Given the description of an element on the screen output the (x, y) to click on. 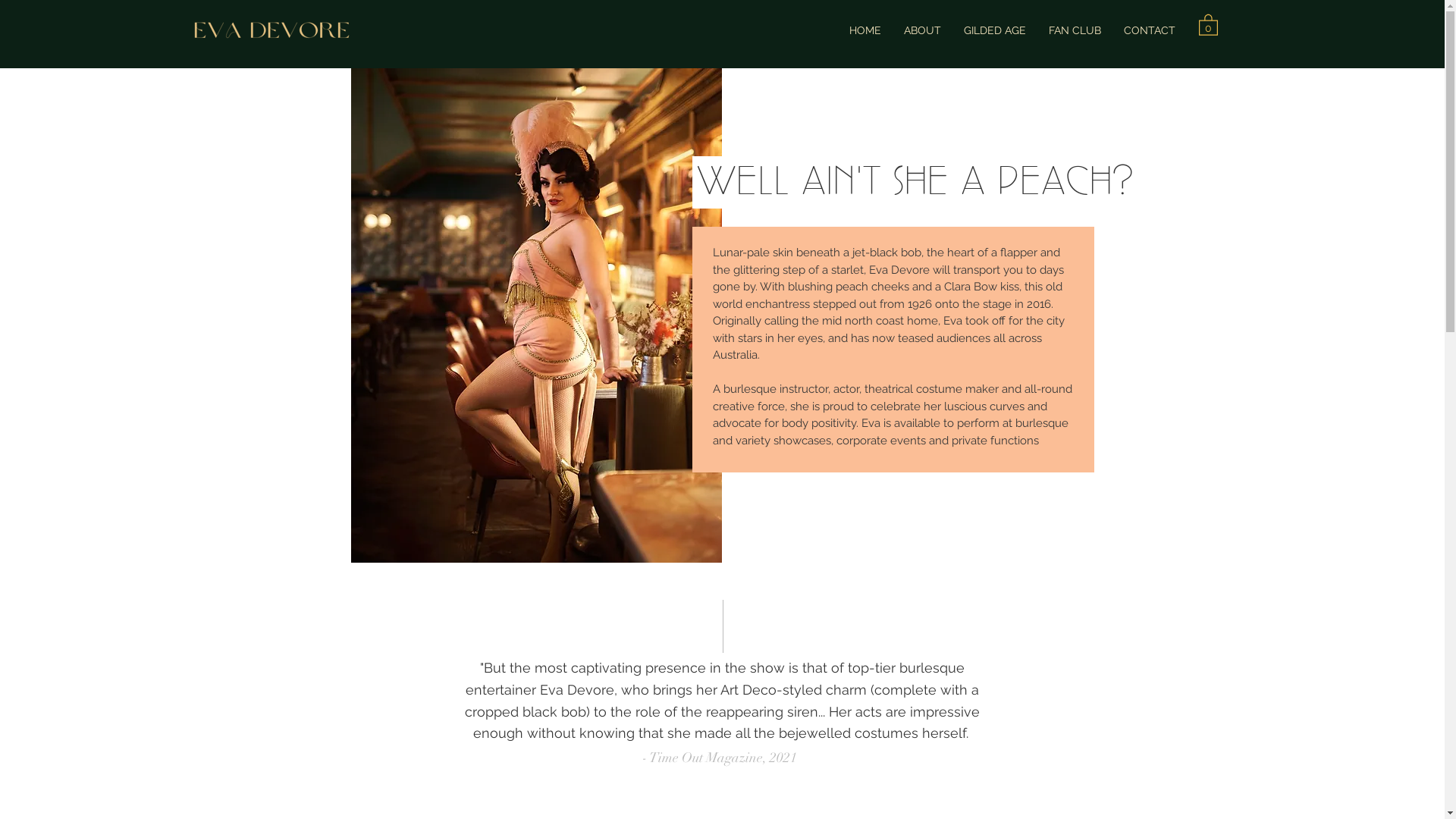
GILDED AGE Element type: text (994, 30)
HOME Element type: text (864, 30)
ABOUT Element type: text (921, 30)
0 Element type: text (1207, 23)
FAN CLUB Element type: text (1074, 30)
CONTACT Element type: text (1148, 30)
